Given the description of an element on the screen output the (x, y) to click on. 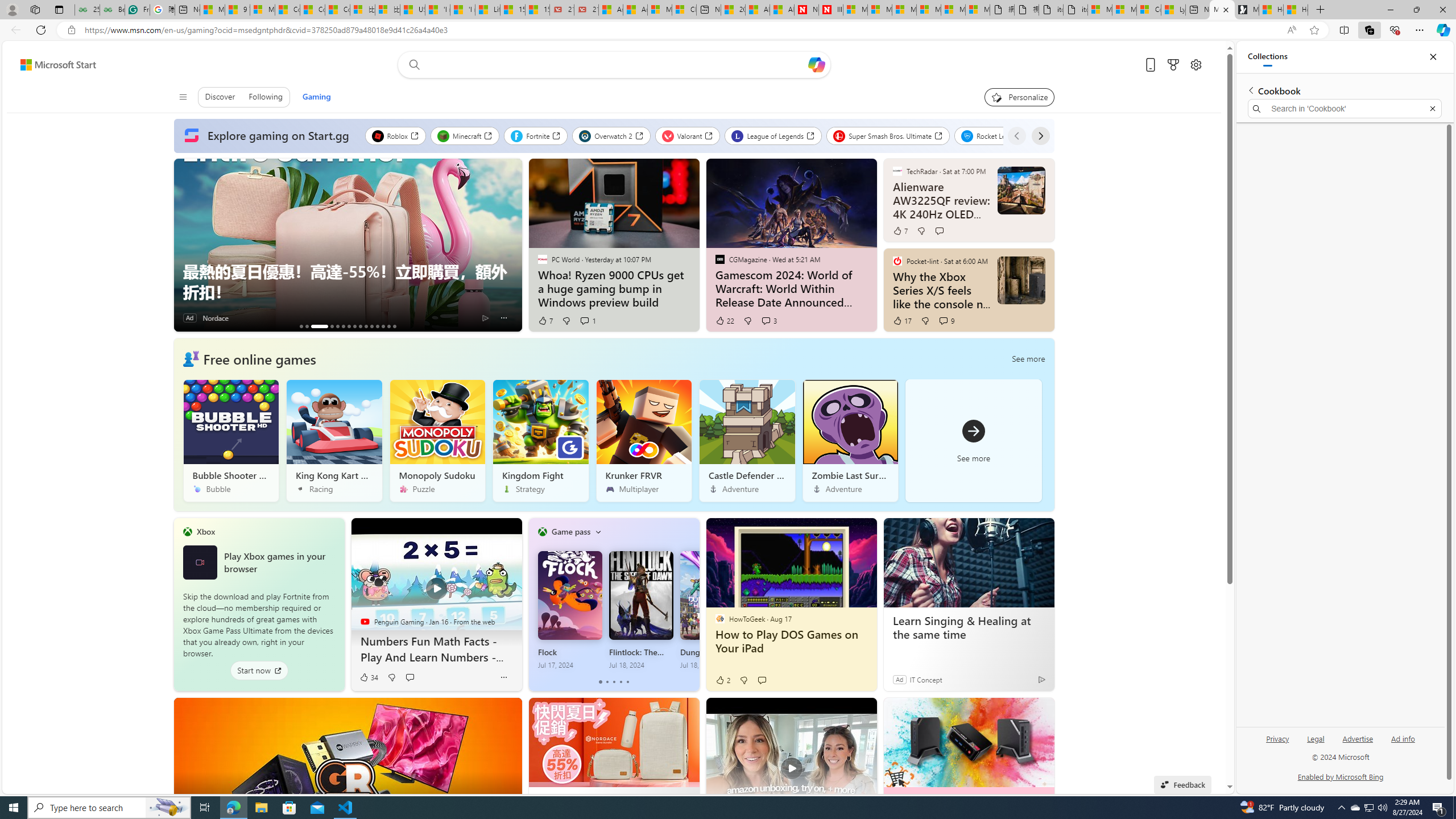
Flintlock: The Siege of Dawn Jul 18, 2024 (640, 610)
Skip to footer (50, 64)
Open settings (1196, 64)
Following (265, 97)
Dislike (742, 680)
View comments 3 Comment (765, 320)
Personalize your feed" (1019, 97)
tab-0 (600, 682)
View comments 9 Comment (943, 320)
